Given the description of an element on the screen output the (x, y) to click on. 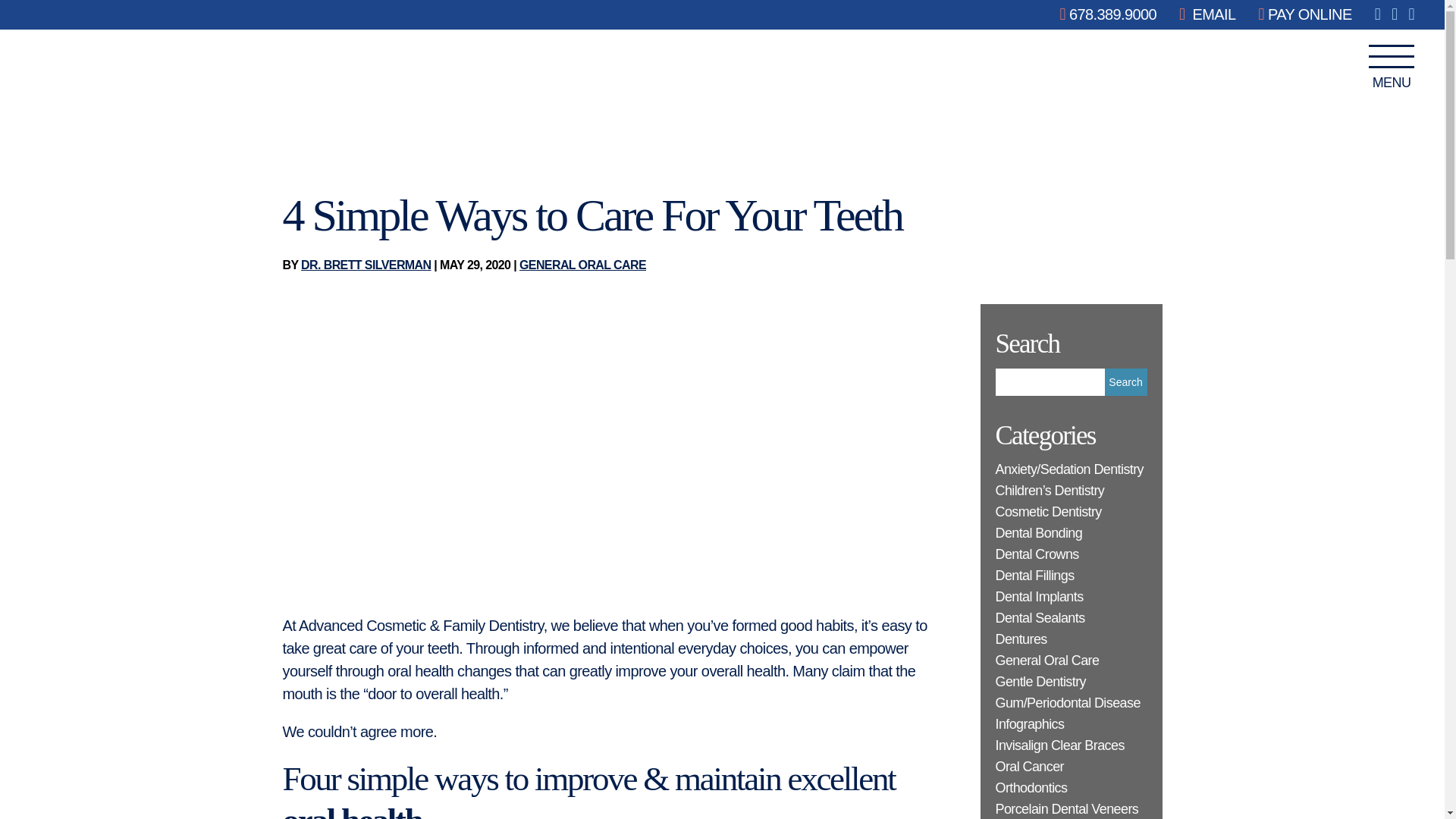
PAY ONLINE (1305, 14)
678.389.9000 (1108, 14)
EMAIL (1206, 14)
Search (1125, 381)
